Given the description of an element on the screen output the (x, y) to click on. 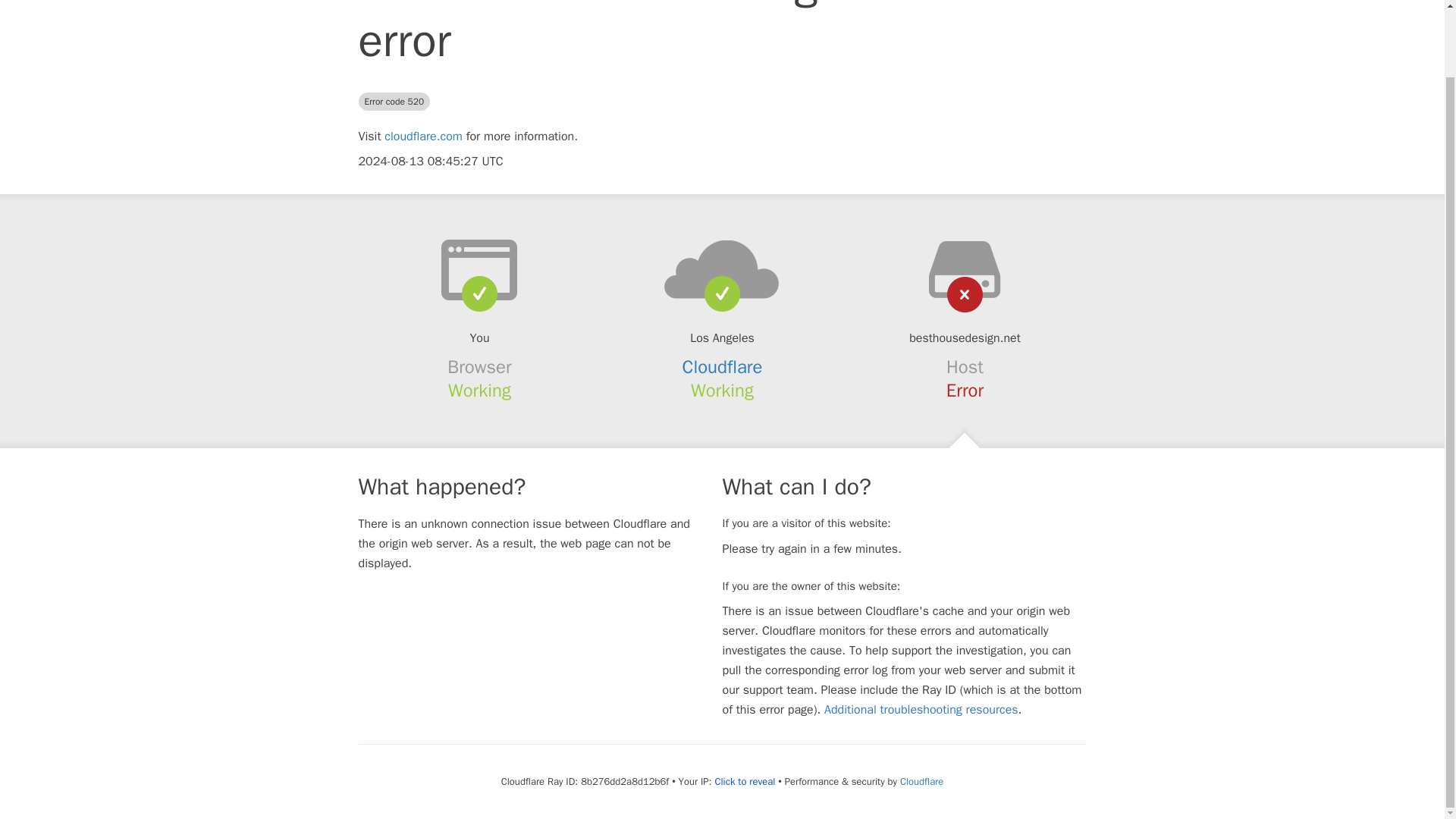
cloudflare.com (423, 136)
Additional troubleshooting resources (920, 709)
Click to reveal (744, 781)
Cloudflare (921, 780)
Cloudflare (722, 366)
